Given the description of an element on the screen output the (x, y) to click on. 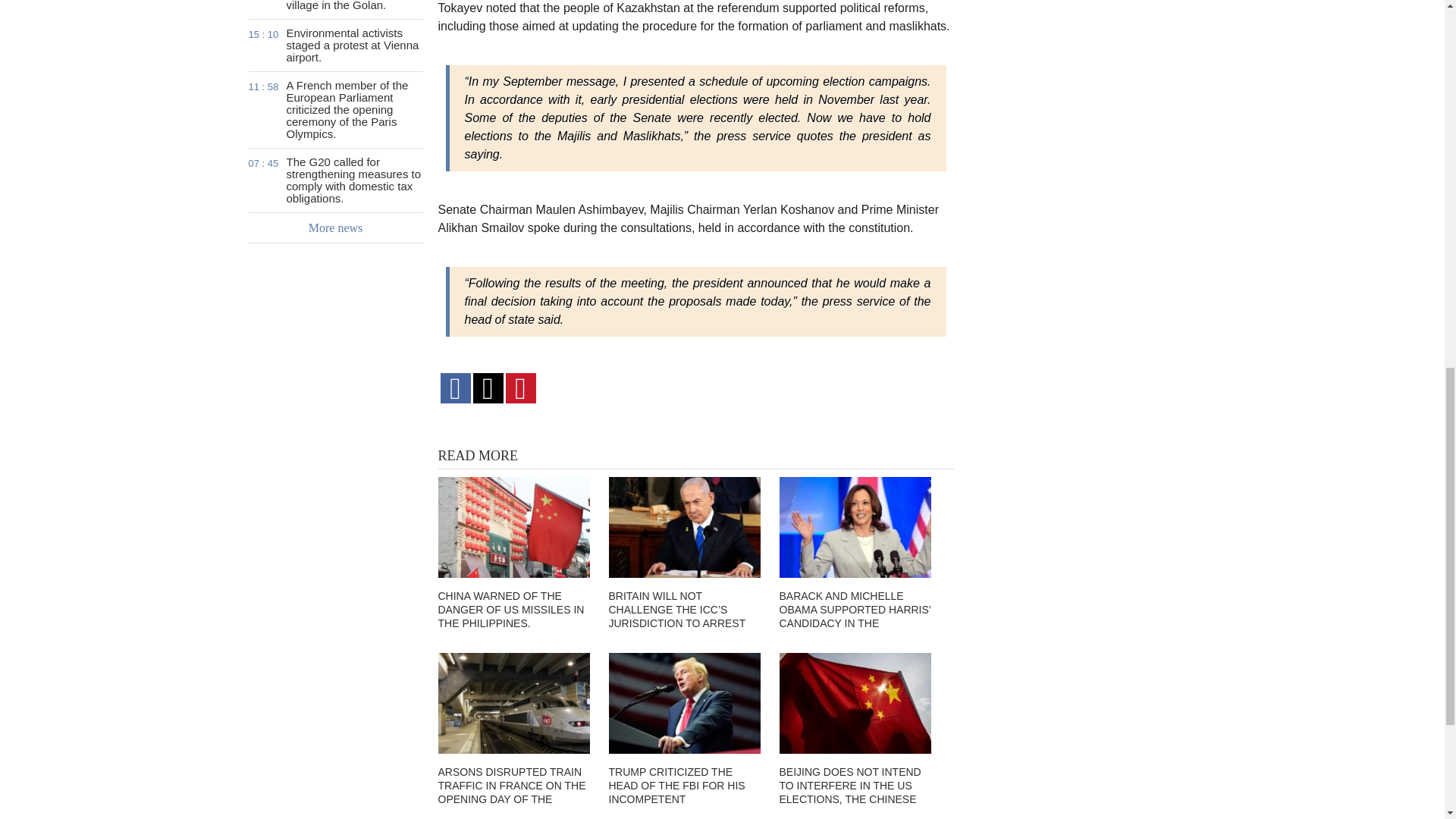
More news (335, 227)
